Given the description of an element on the screen output the (x, y) to click on. 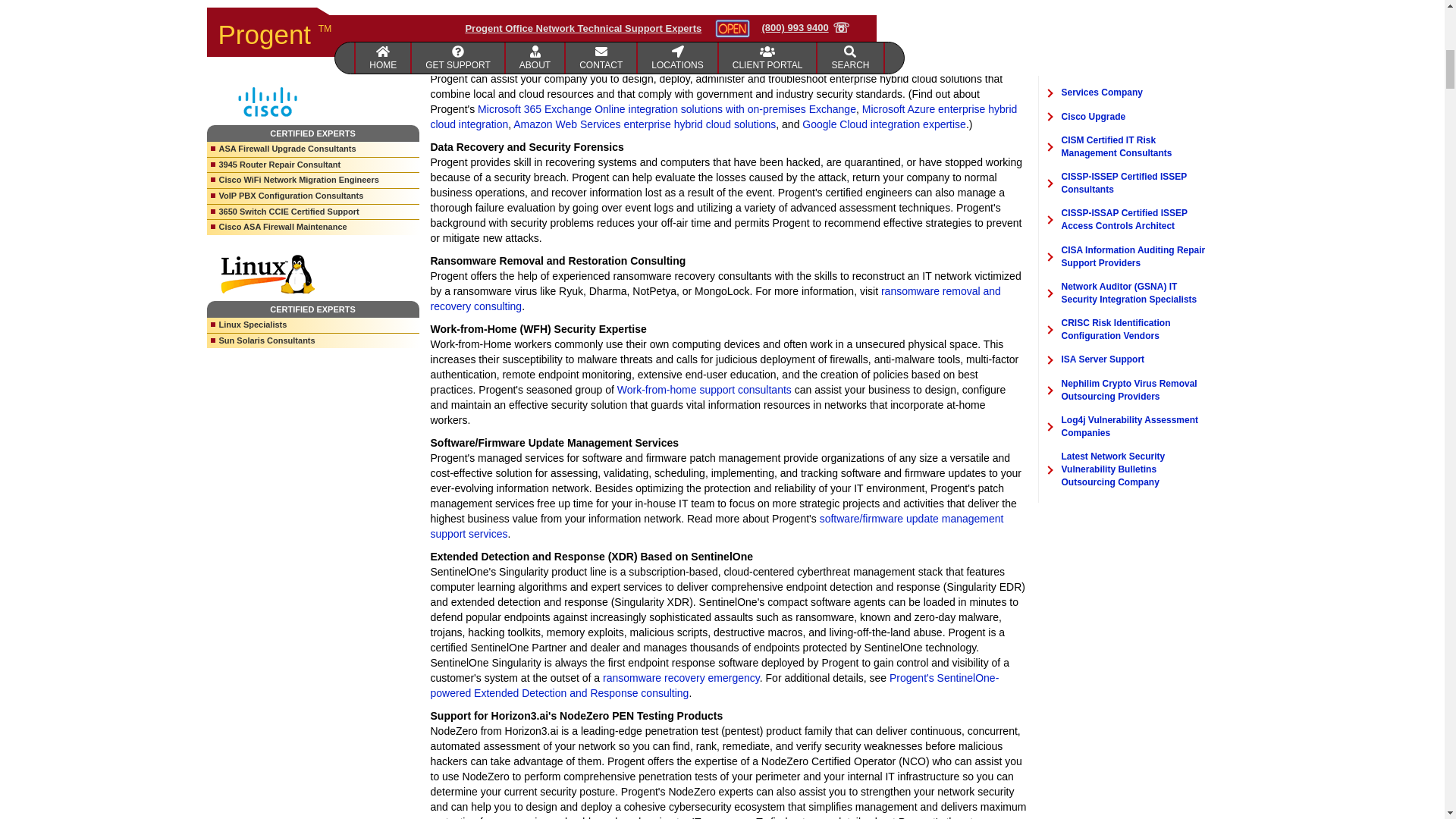
24x7 Network Support (709, 33)
Microsoft Azure Integration Consulting (723, 116)
Email Protection and Management (544, 4)
